Given the description of an element on the screen output the (x, y) to click on. 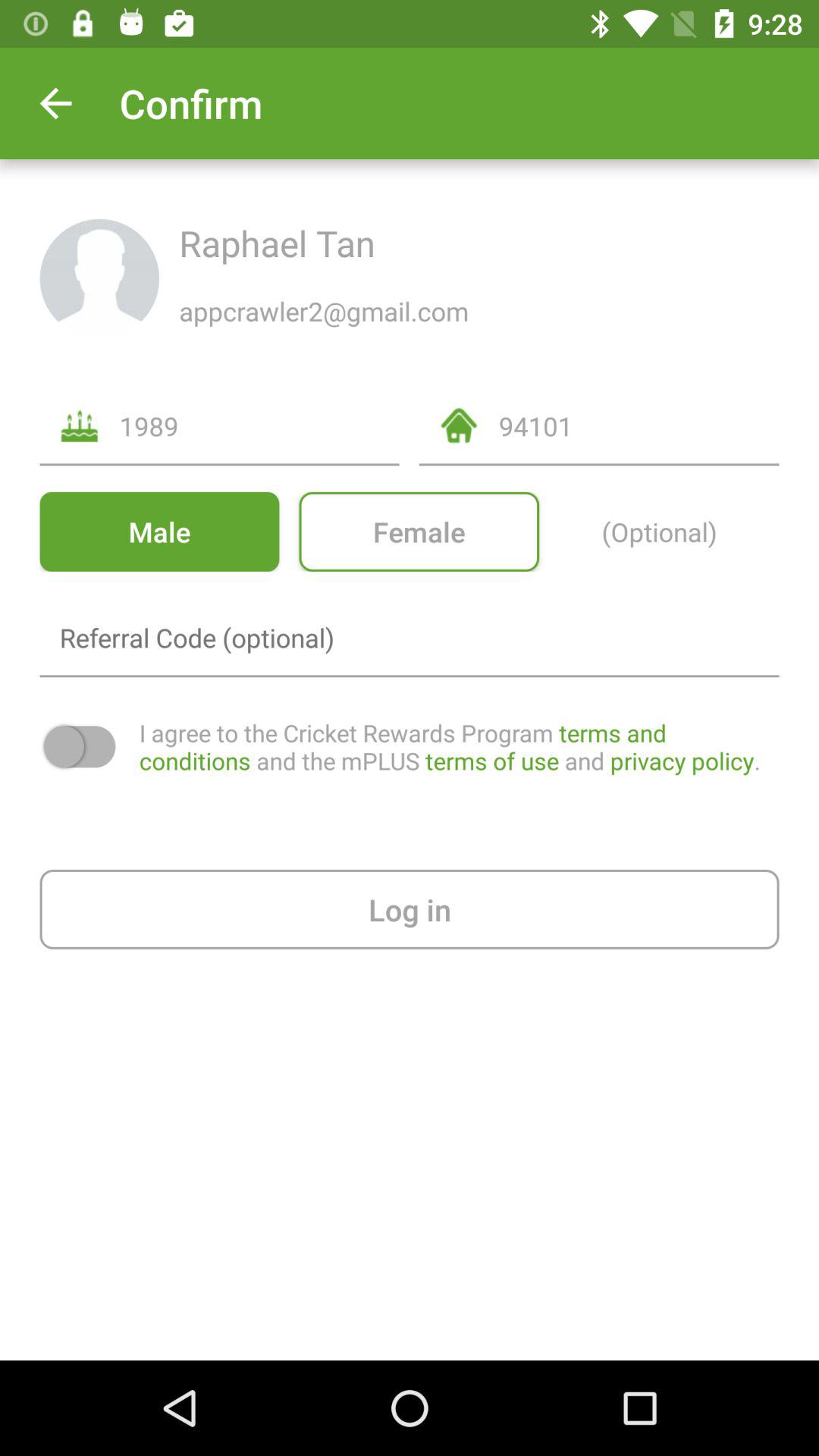
launch item to the left of the (optional) item (419, 531)
